Given the description of an element on the screen output the (x, y) to click on. 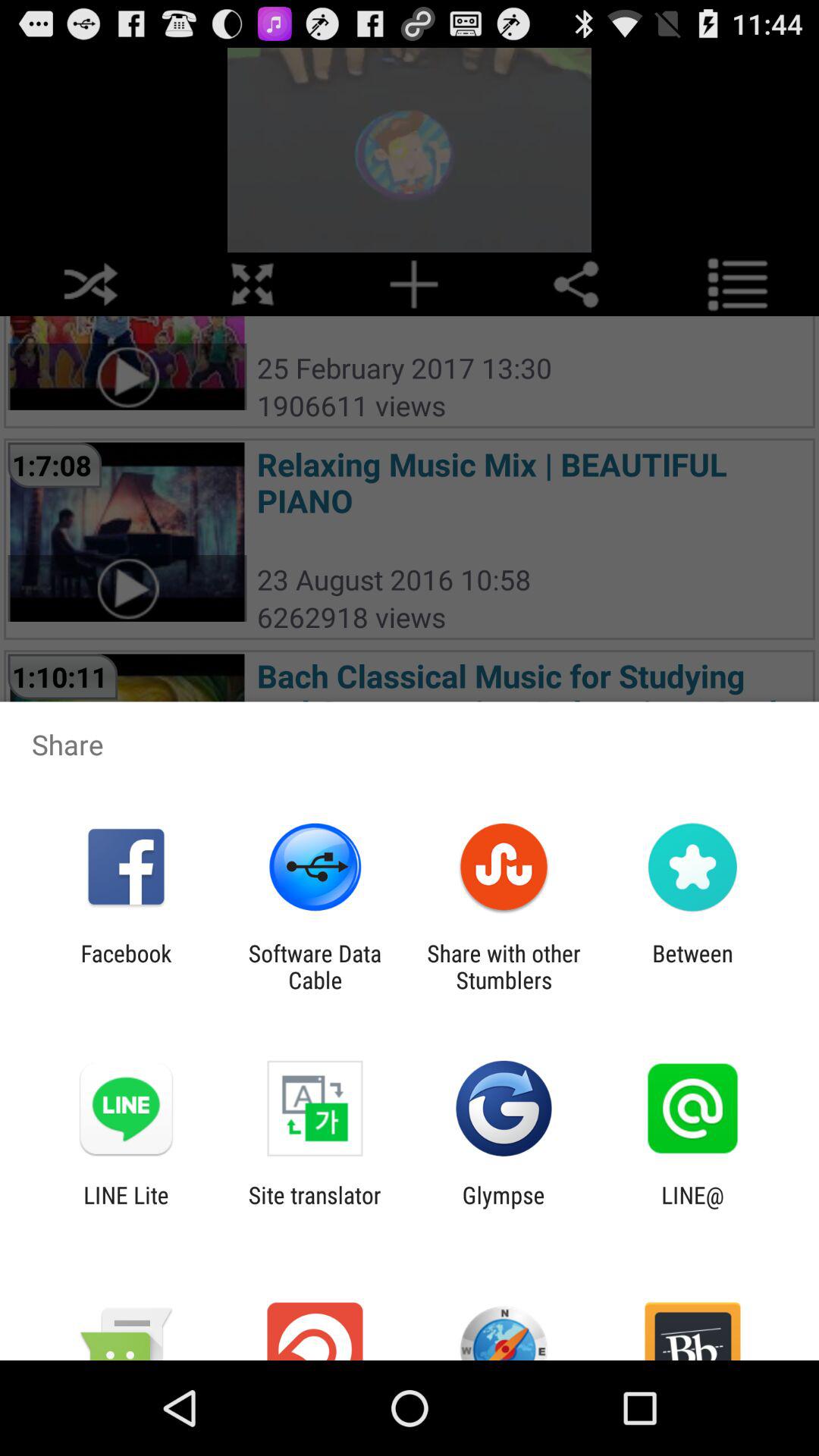
turn on the icon next to the facebook (314, 966)
